Given the description of an element on the screen output the (x, y) to click on. 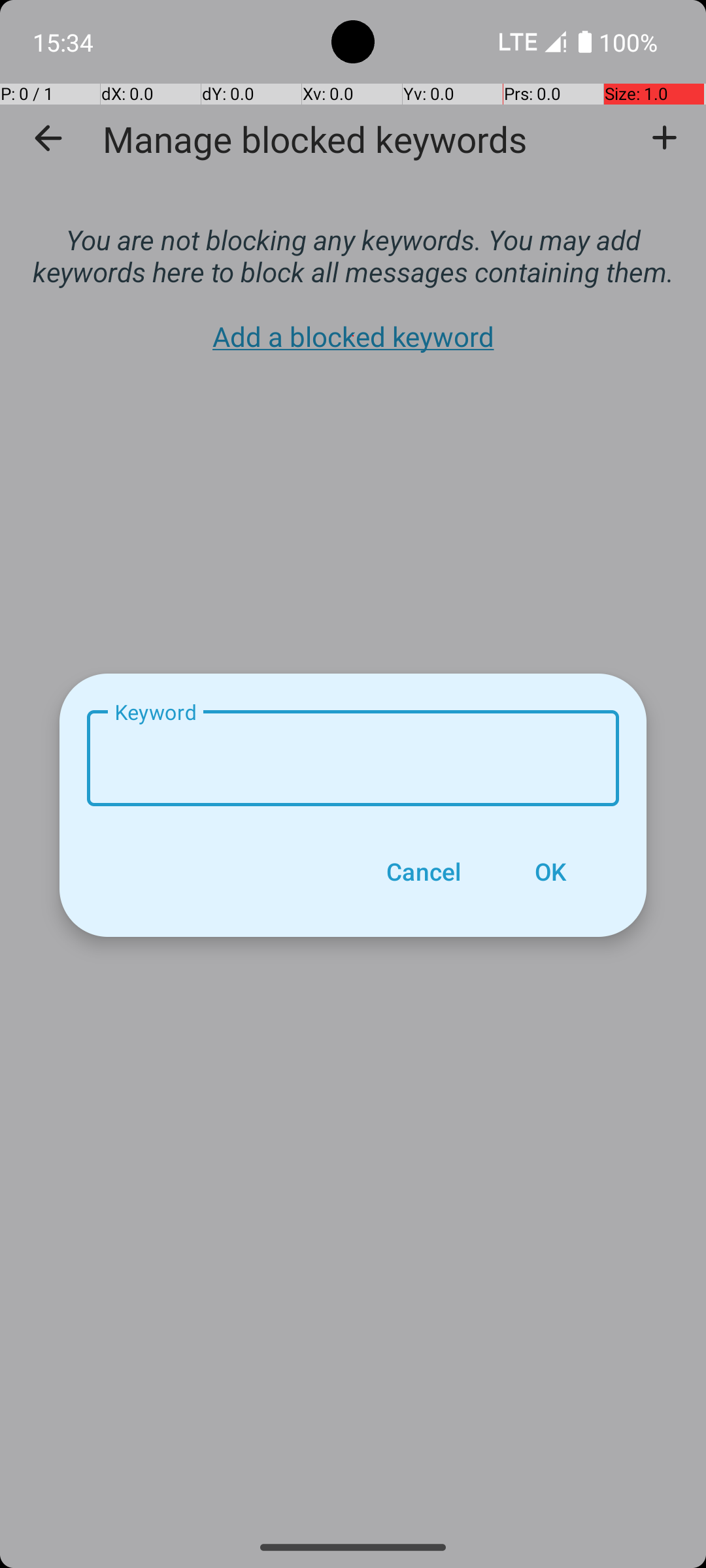
Keyword Element type: android.widget.EditText (352, 758)
